Given the description of an element on the screen output the (x, y) to click on. 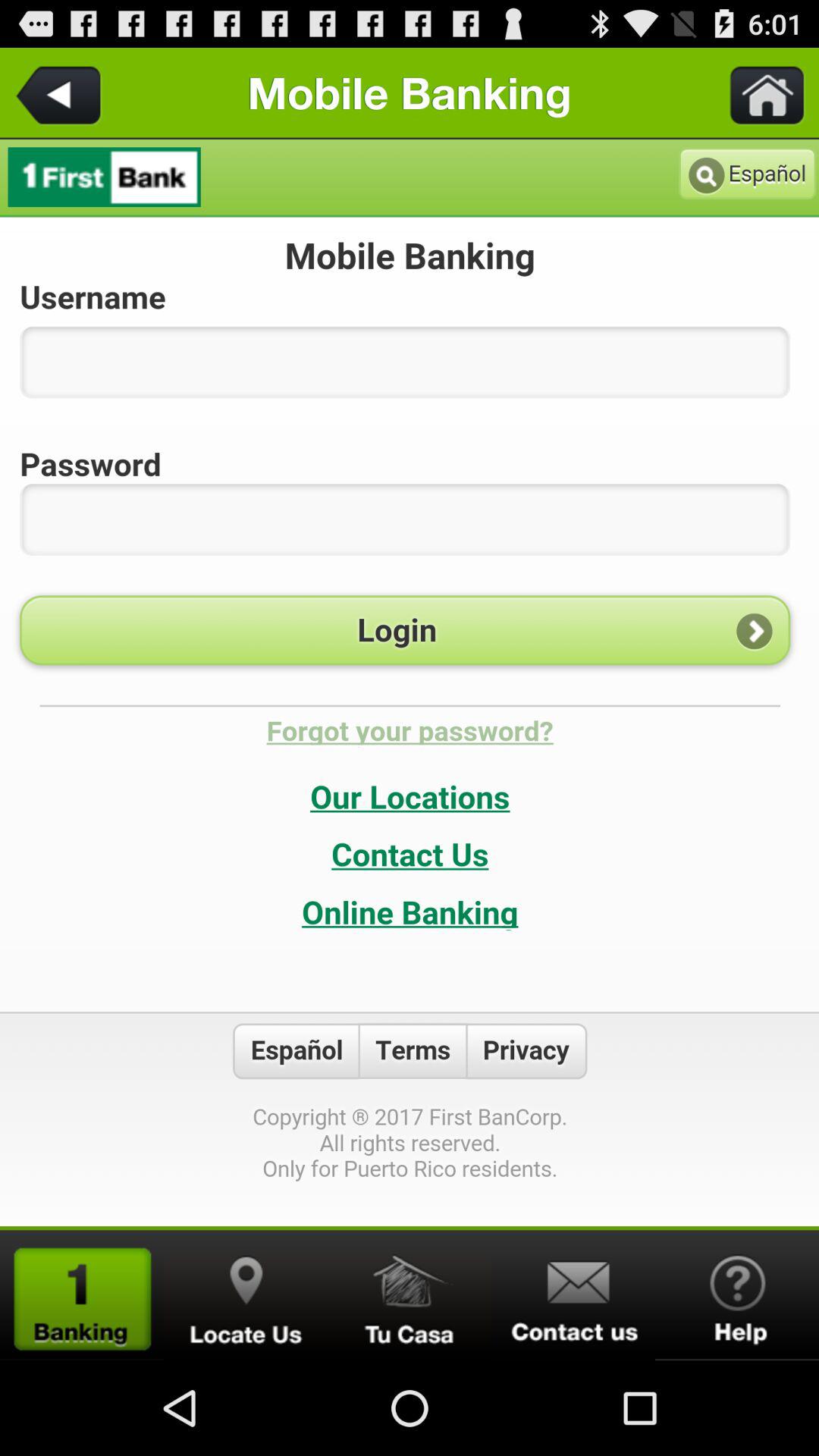
go home (409, 1295)
